Given the description of an element on the screen output the (x, y) to click on. 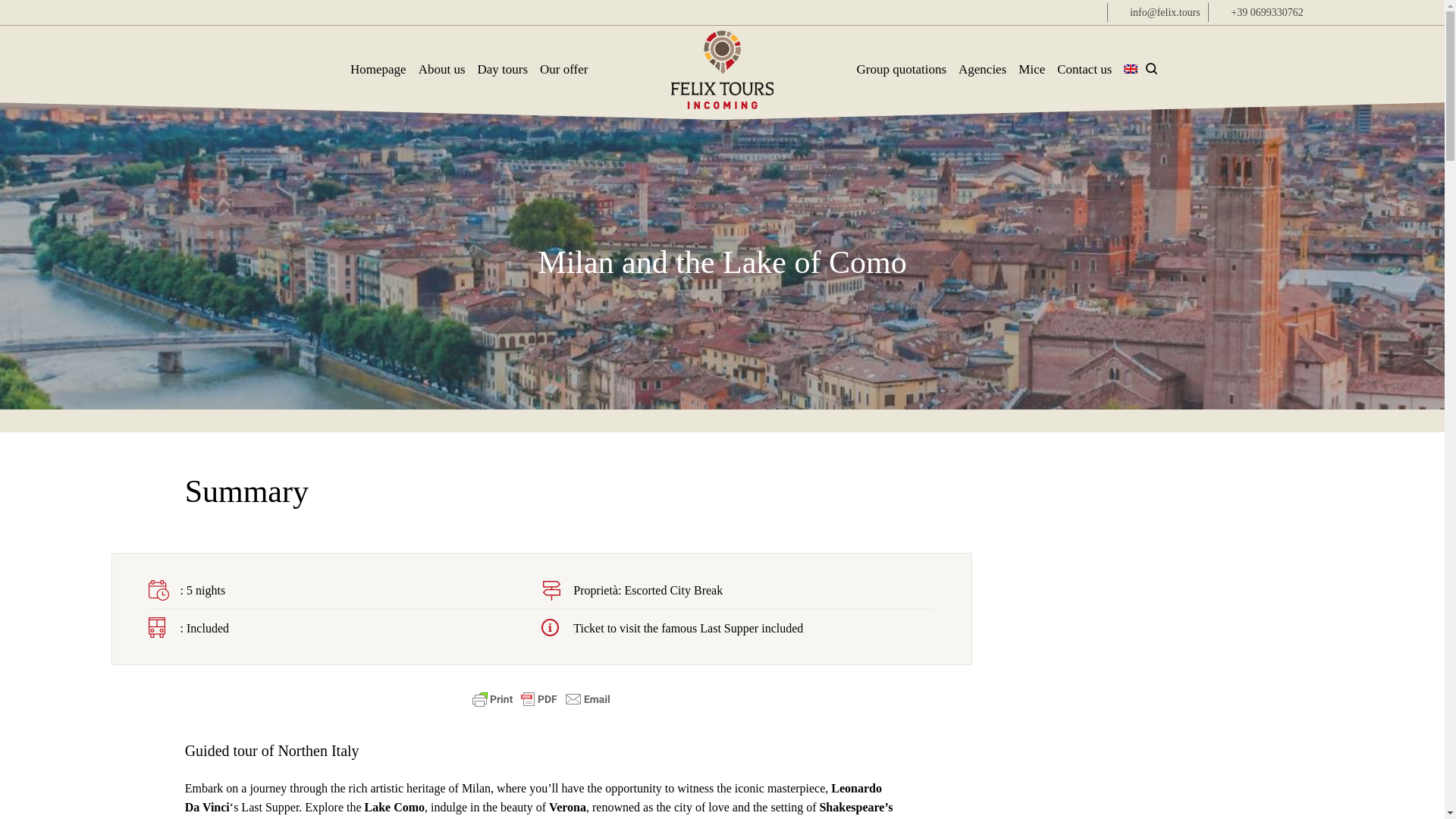
Group quotations (901, 57)
Group quotations (901, 57)
Agencies (981, 57)
Homepage (377, 57)
Homepage (377, 57)
Contact us (1084, 57)
Day tours (502, 57)
Contact us (1084, 57)
Agencies (981, 57)
Our offer (564, 57)
